Given the description of an element on the screen output the (x, y) to click on. 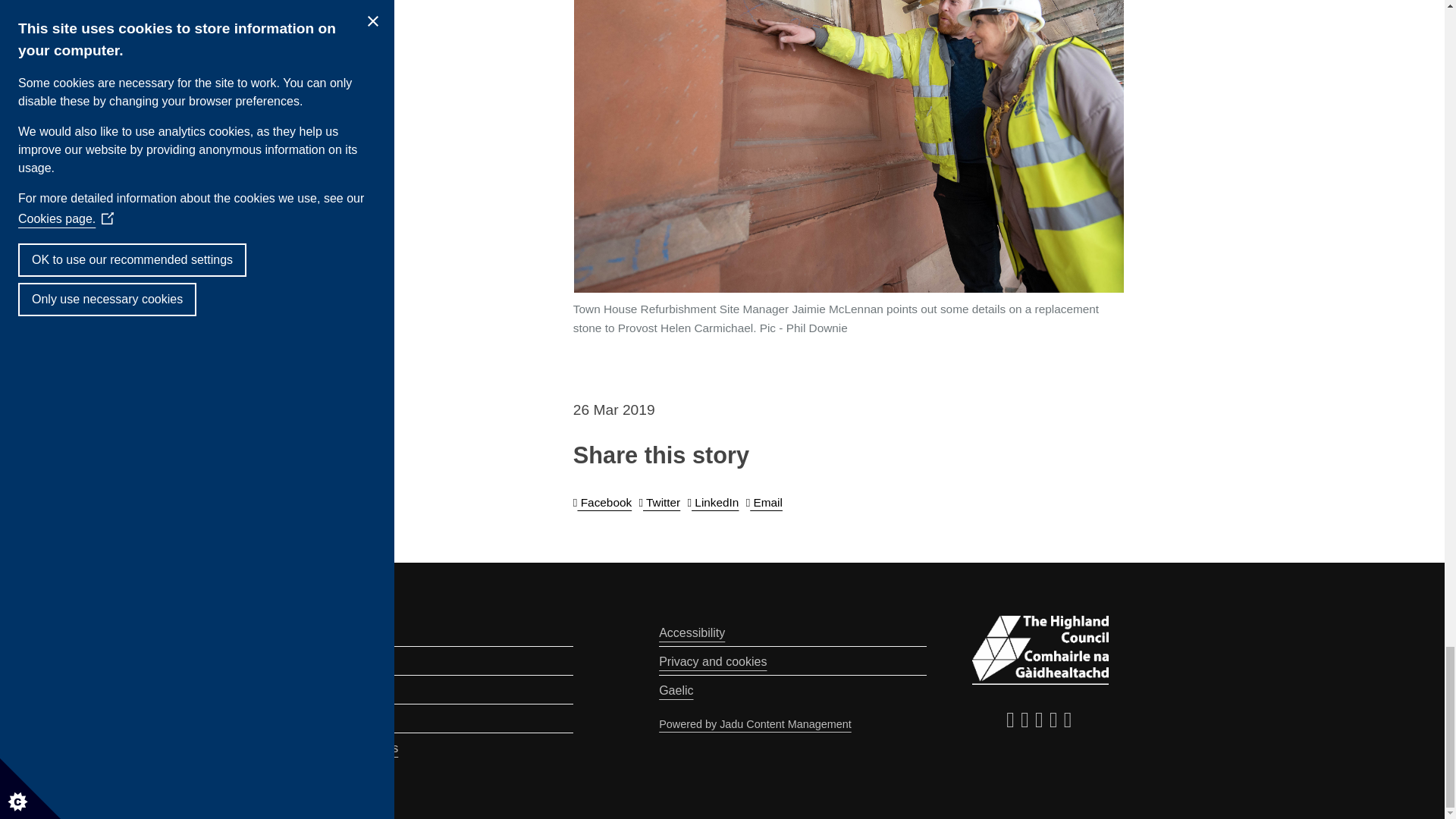
Privacy and cookies (713, 662)
Facebook (602, 502)
Site map (328, 690)
Contact Us (334, 632)
Jobs and careers (350, 748)
Email (764, 502)
LinkedIn (712, 502)
Myaccount (333, 662)
Twitter (659, 502)
Powered by Jadu Content Management (755, 724)
Accessibility (692, 632)
Gaelic (676, 690)
A-Z of Services (345, 719)
